Given the description of an element on the screen output the (x, y) to click on. 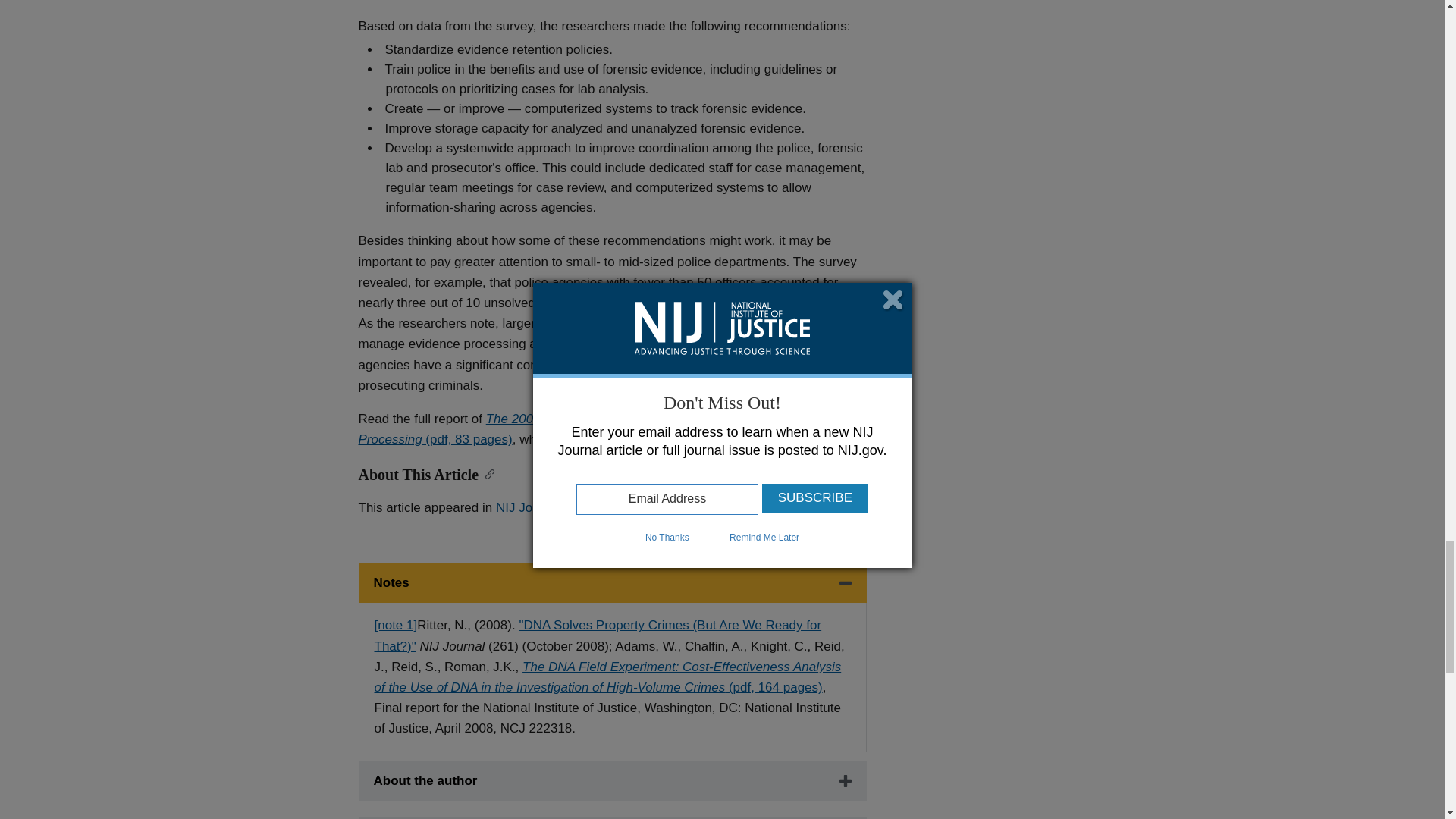
Copy link to section: About This Article (487, 473)
About the author (612, 780)
Notes (612, 582)
The DNA Field Experiment (607, 677)
The 2007 Survey (584, 428)
NIJ Journal Issue 266 (558, 507)
